Given the description of an element on the screen output the (x, y) to click on. 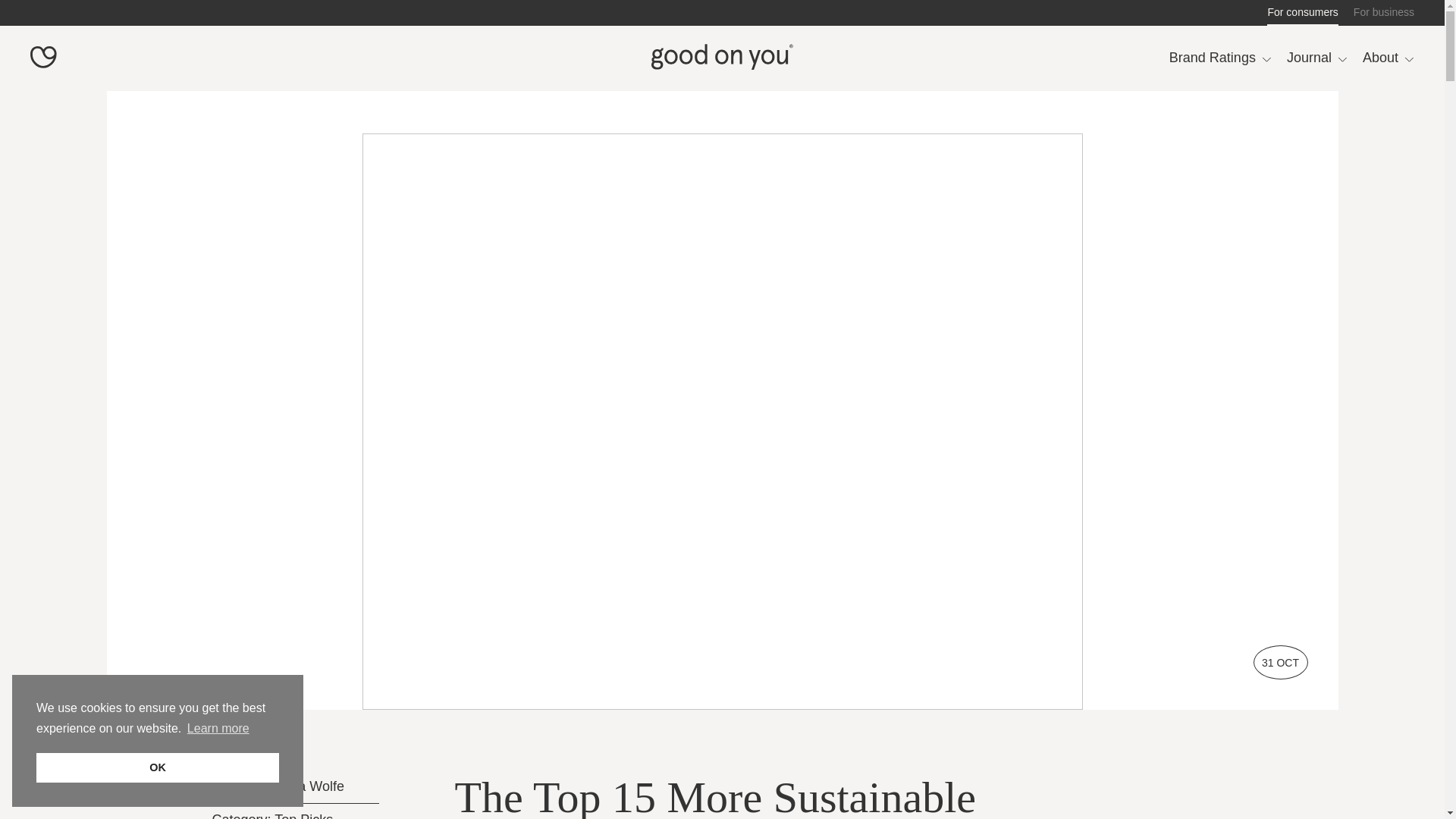
For business (1383, 12)
Brand Ratings (1220, 57)
About (1387, 57)
Journal (1317, 57)
Learn more (217, 728)
OK (157, 767)
For consumers (1302, 12)
